Given the description of an element on the screen output the (x, y) to click on. 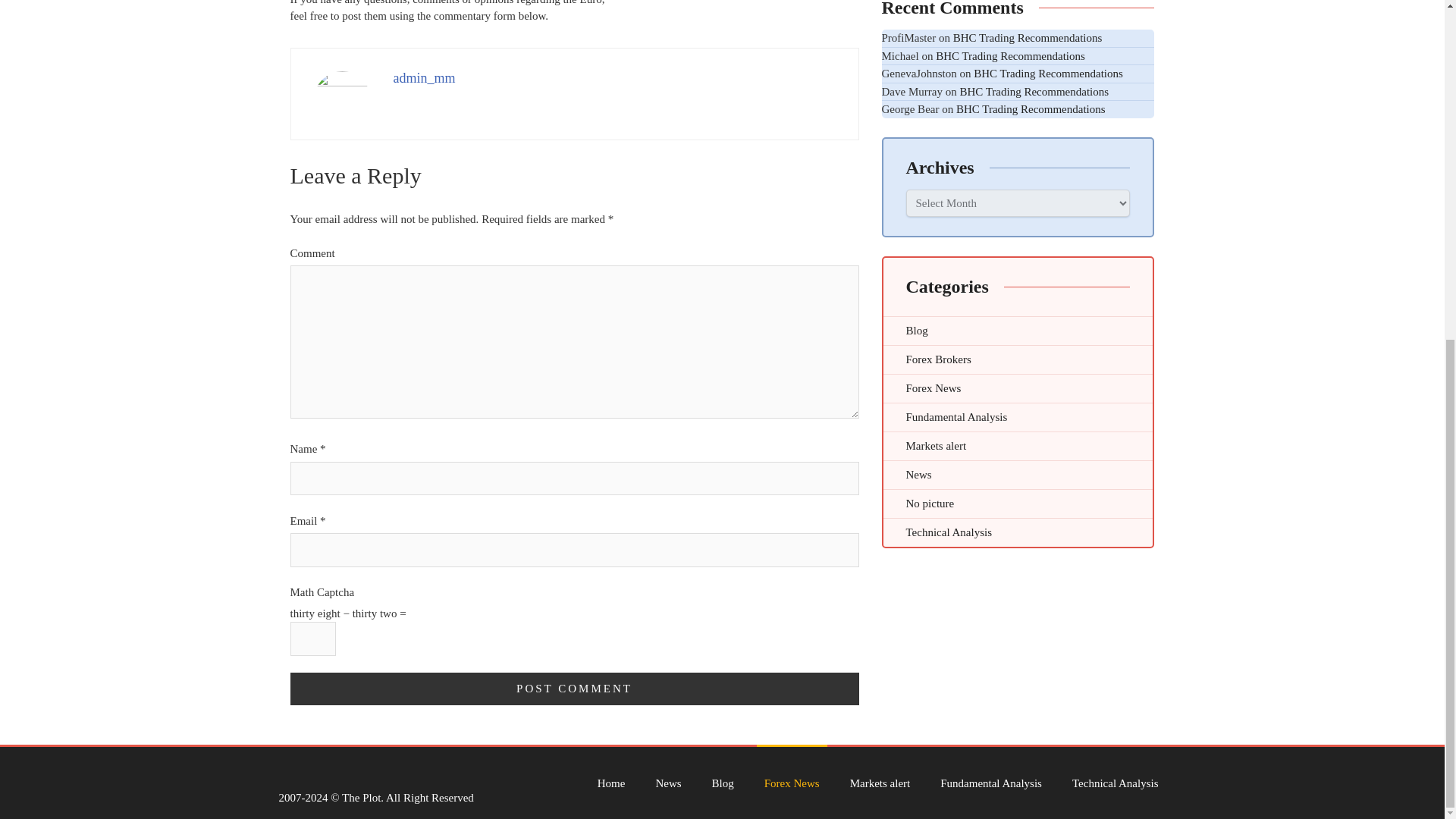
BHC Trading Recommendations (1027, 37)
BHC Trading Recommendations (1030, 109)
BHC Trading Recommendations (1010, 55)
Post Comment (574, 688)
BHC Trading Recommendations (1048, 73)
Forex Brokers (1017, 358)
Fundamental Analysis (1017, 416)
Post Comment (574, 688)
Forex News (1017, 387)
Technical Analysis (1017, 531)
No picture (1017, 502)
News (1017, 474)
Markets alert (1017, 445)
BHC Trading Recommendations (1033, 91)
Blog (1017, 329)
